Given the description of an element on the screen output the (x, y) to click on. 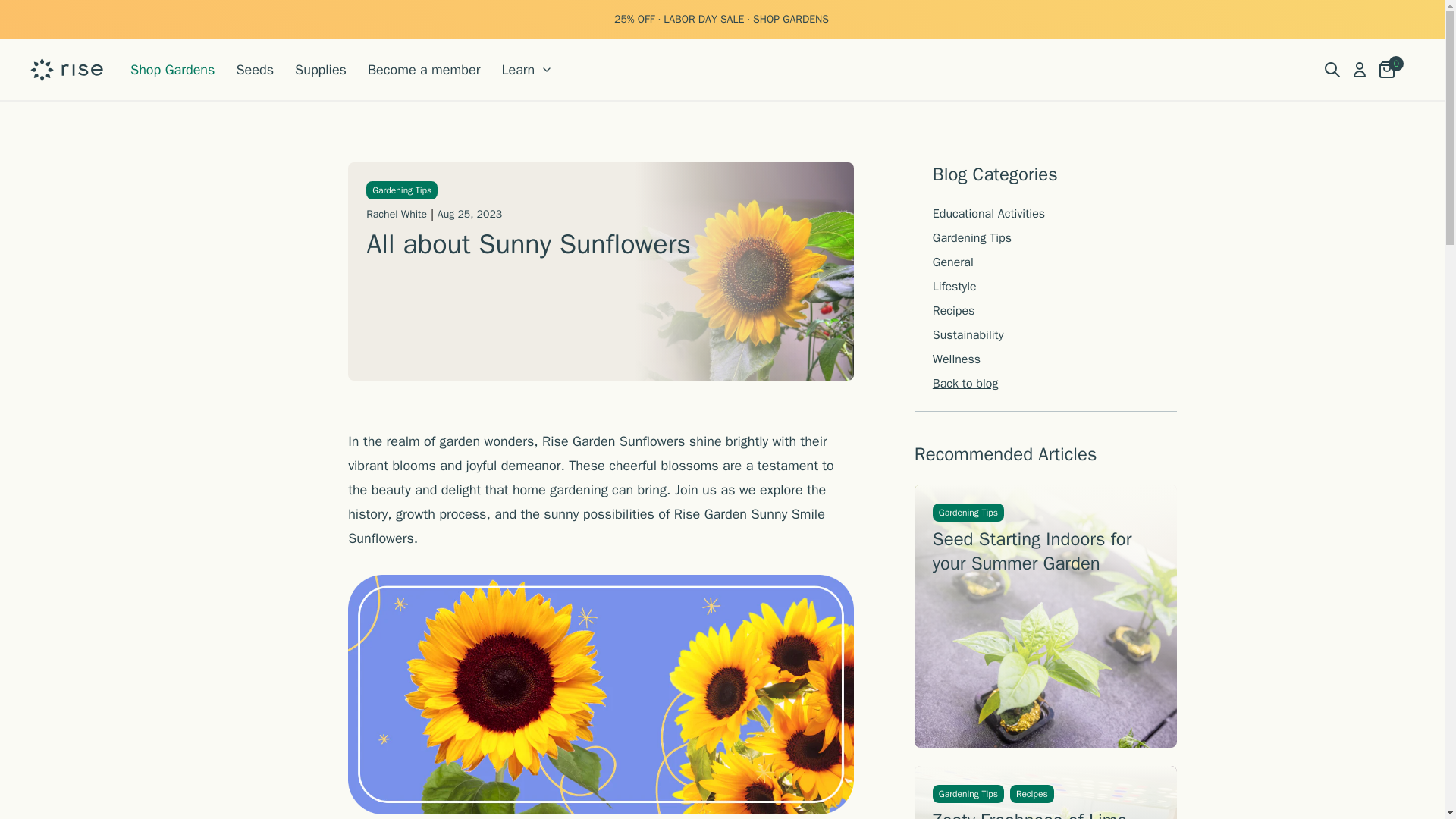
Gardening Tips (402, 189)
Shop Gardens (172, 69)
Learn (527, 69)
0 (1386, 69)
Become a member (423, 69)
Recipes (1032, 793)
Recipes (954, 310)
Supplies (320, 69)
Gardening Tips (972, 237)
Gardening Tips (968, 512)
